Given the description of an element on the screen output the (x, y) to click on. 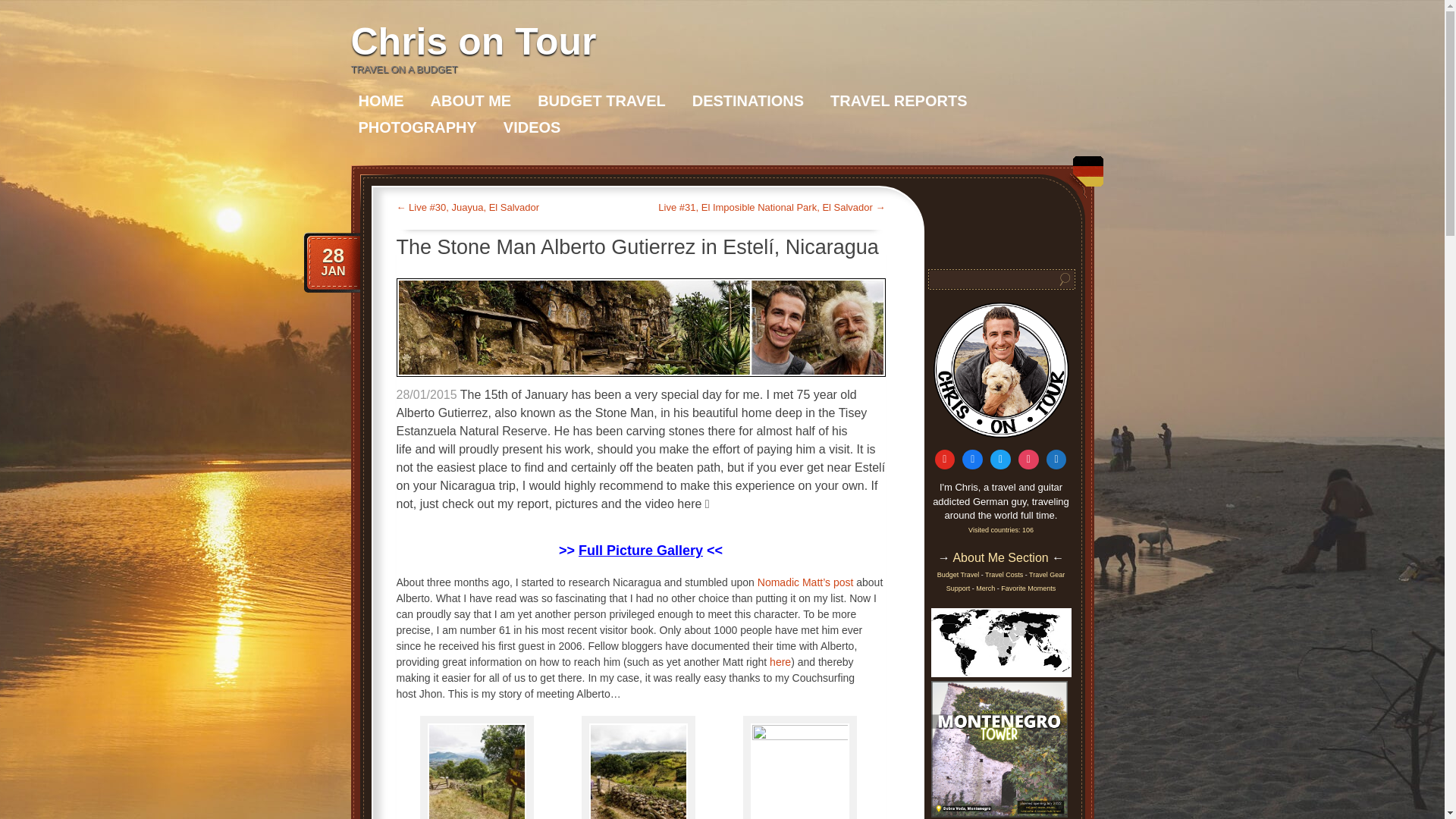
Search (1064, 279)
Chris on Tour (472, 41)
Default Label (945, 459)
Facebook (972, 459)
HOME (380, 100)
Default Label (1056, 459)
Twitter (1000, 459)
DESTINATIONS (747, 100)
Chris on Tour (472, 41)
ABOUT ME (471, 100)
Instagram (1028, 459)
BUDGET TRAVEL (600, 100)
